Given the description of an element on the screen output the (x, y) to click on. 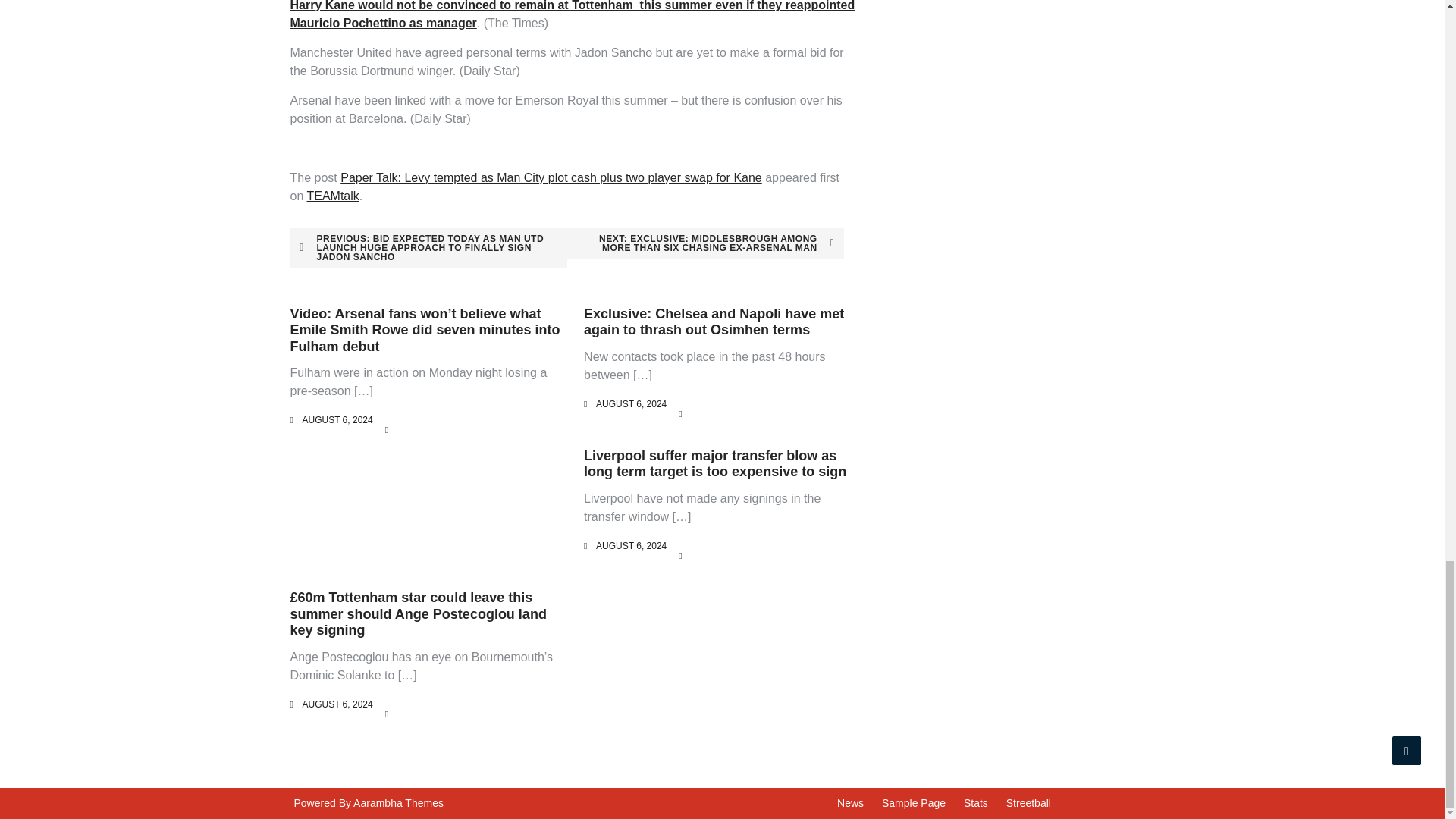
TEAMtalk (331, 195)
AUGUST 6, 2024 (630, 403)
AUGUST 6, 2024 (630, 545)
AUGUST 6, 2024 (336, 419)
AUGUST 6, 2024 (336, 704)
